Given the description of an element on the screen output the (x, y) to click on. 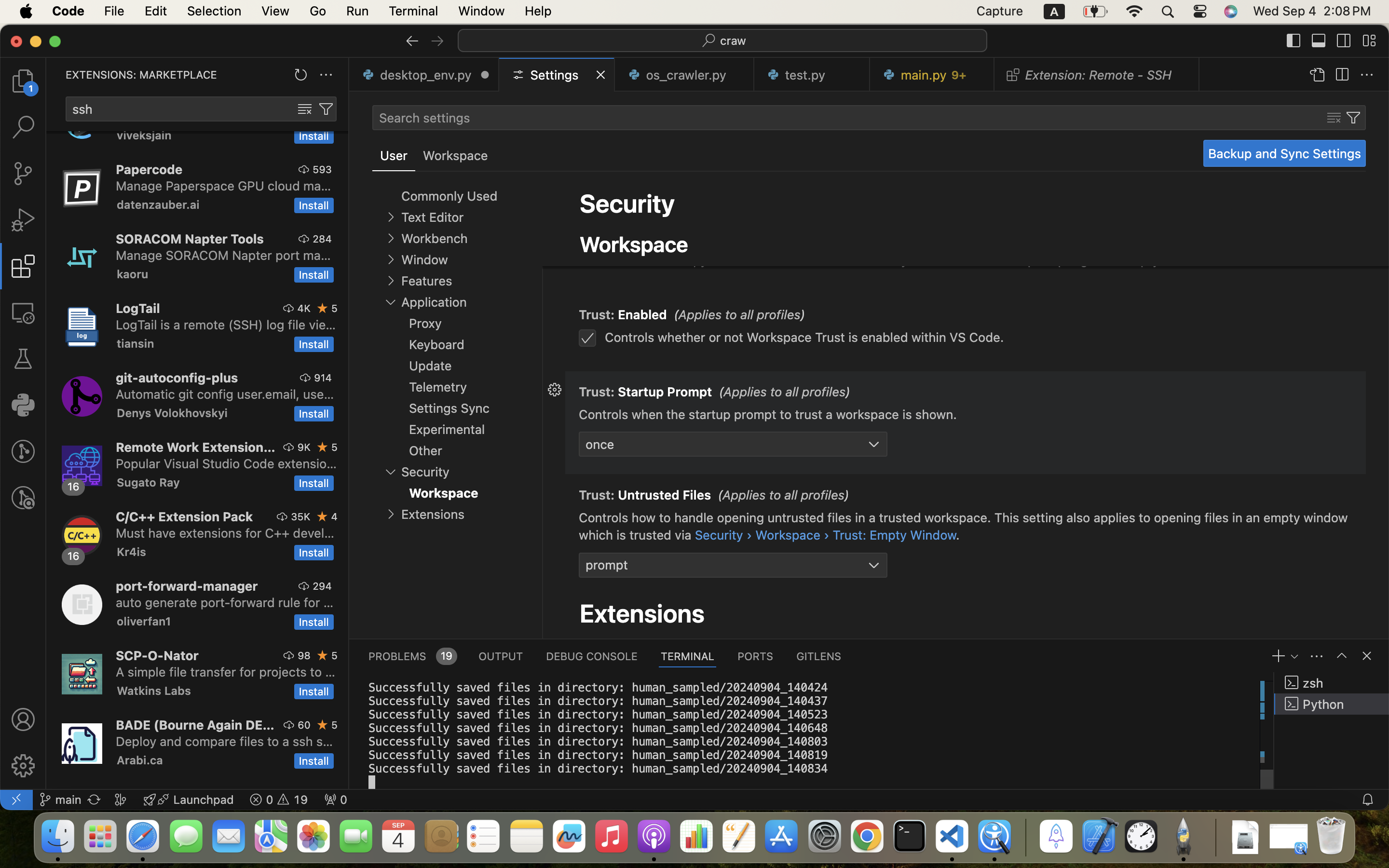
593 Element type: AXStaticText (321, 168)
 Element type: AXButton (437, 40)
 Element type: AXGroup (23, 497)
Other Element type: AXStaticText (425, 450)
1 Element type: AXRadioButton (393, 155)
